Given the description of an element on the screen output the (x, y) to click on. 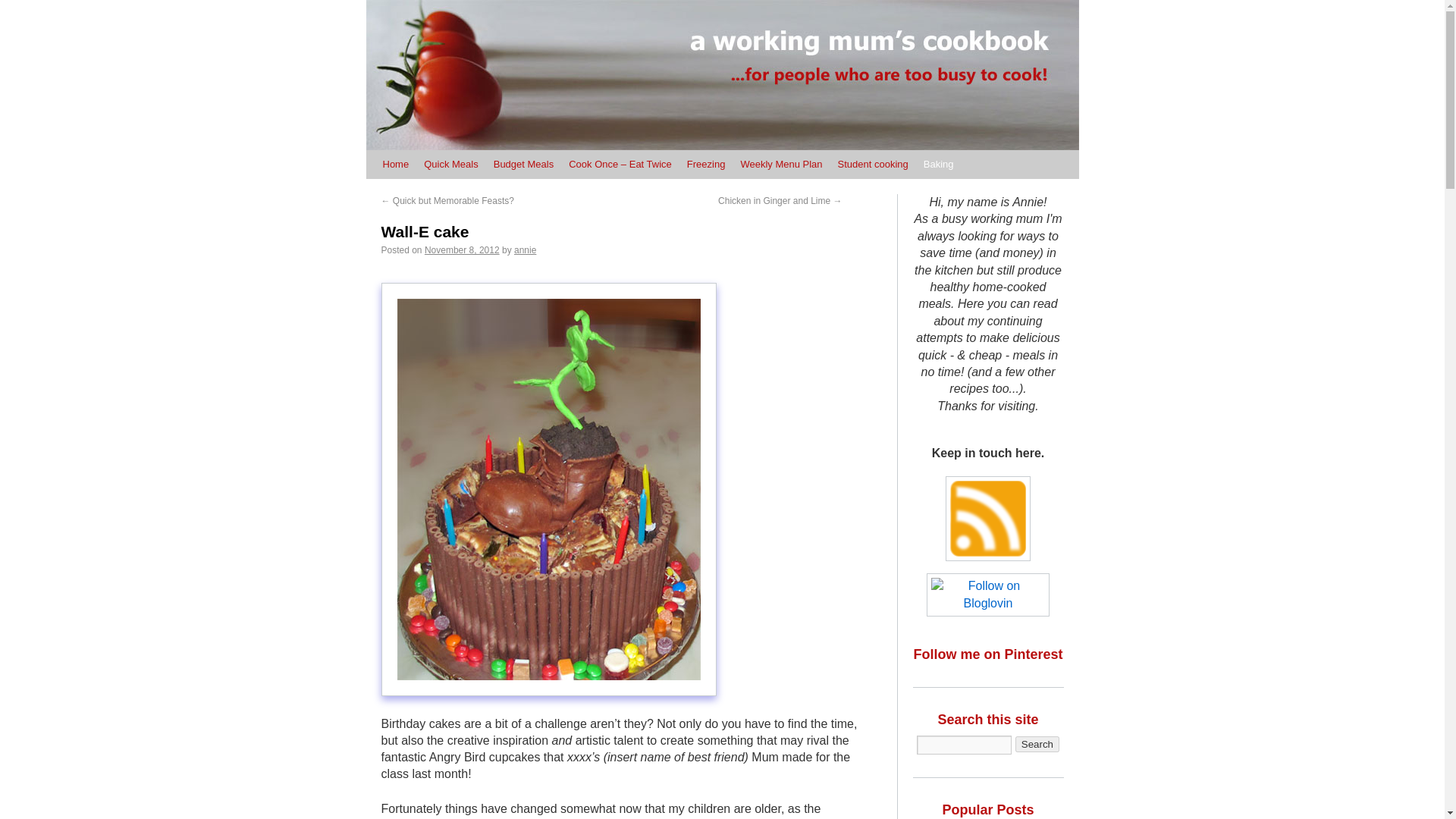
Baking (937, 164)
Quick Meals (451, 164)
Search (1036, 744)
Home (395, 164)
annie (524, 249)
Freezing (706, 164)
Budget Meals (524, 164)
9:32 pm (462, 249)
Student cooking (872, 164)
Search (1036, 744)
Weekly Menu Plan (780, 164)
Follow a working mums cookbook on Bloglovin (987, 603)
View all posts by annie (524, 249)
November 8, 2012 (462, 249)
